Given the description of an element on the screen output the (x, y) to click on. 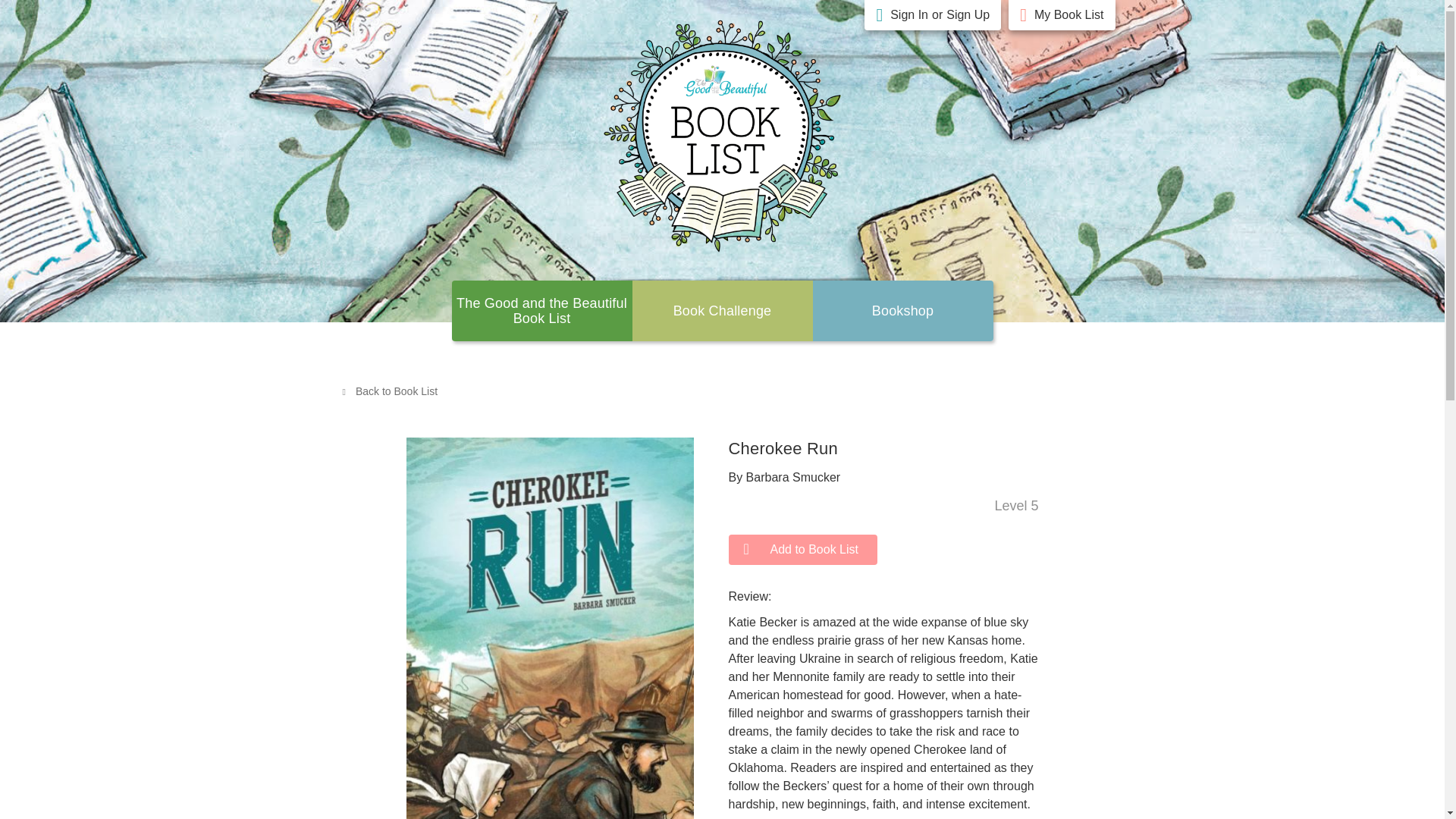
Library (903, 310)
Back to Book List (389, 390)
My Book List (1068, 14)
Sign In (908, 14)
Bookshop (903, 310)
The Good and the Beautiful Book List (541, 310)
Sign Up (968, 14)
Add to Book List (802, 549)
Book Challenge (721, 310)
